Given the description of an element on the screen output the (x, y) to click on. 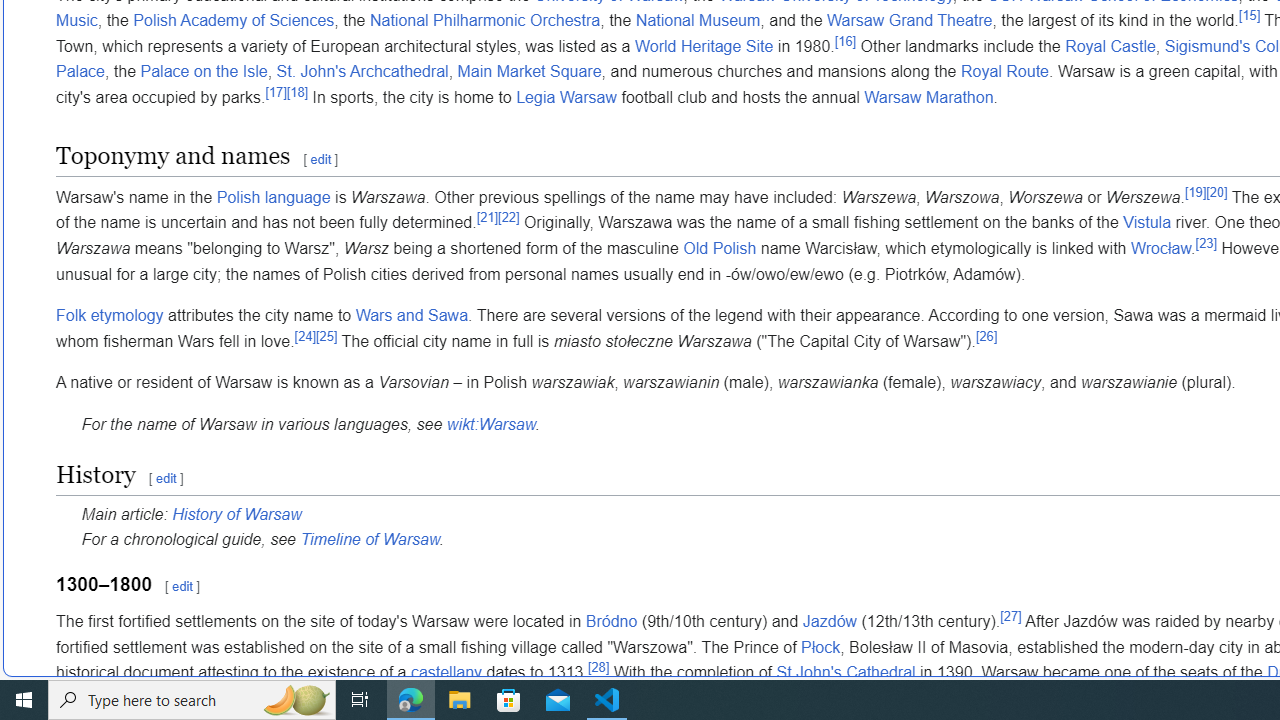
St John's Cathedral (845, 672)
Polish Academy of Sciences (234, 21)
Timeline of Warsaw (369, 539)
History of Warsaw (236, 513)
Polish language (273, 196)
Old Polish (719, 248)
[21] (487, 218)
Royal Castle (1109, 45)
World Heritage Site (703, 45)
[20] (1216, 192)
castellany (445, 672)
Warsaw Grand Theatre (909, 21)
[25] (325, 336)
